Given the description of an element on the screen output the (x, y) to click on. 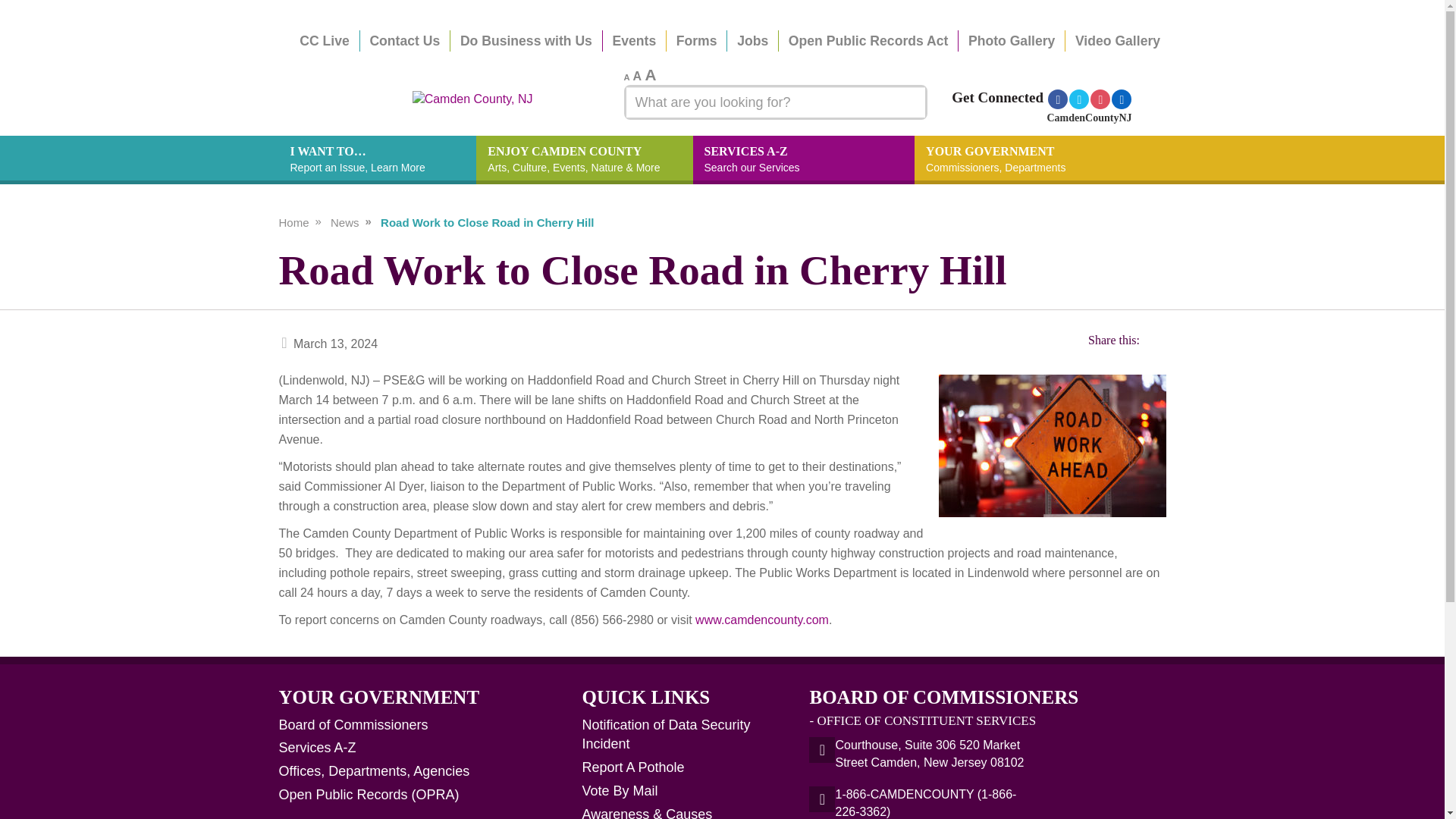
Increase font size (650, 74)
News (344, 222)
Open Public Records Act (869, 40)
Photo Gallery (1011, 40)
Forms (697, 40)
Do Business with Us (636, 75)
Twitter (526, 40)
Instagram (804, 159)
Reset font size (1078, 98)
Connect On LinkedIn (650, 74)
Camden County, NJ (1099, 98)
Search for: (636, 75)
